Given the description of an element on the screen output the (x, y) to click on. 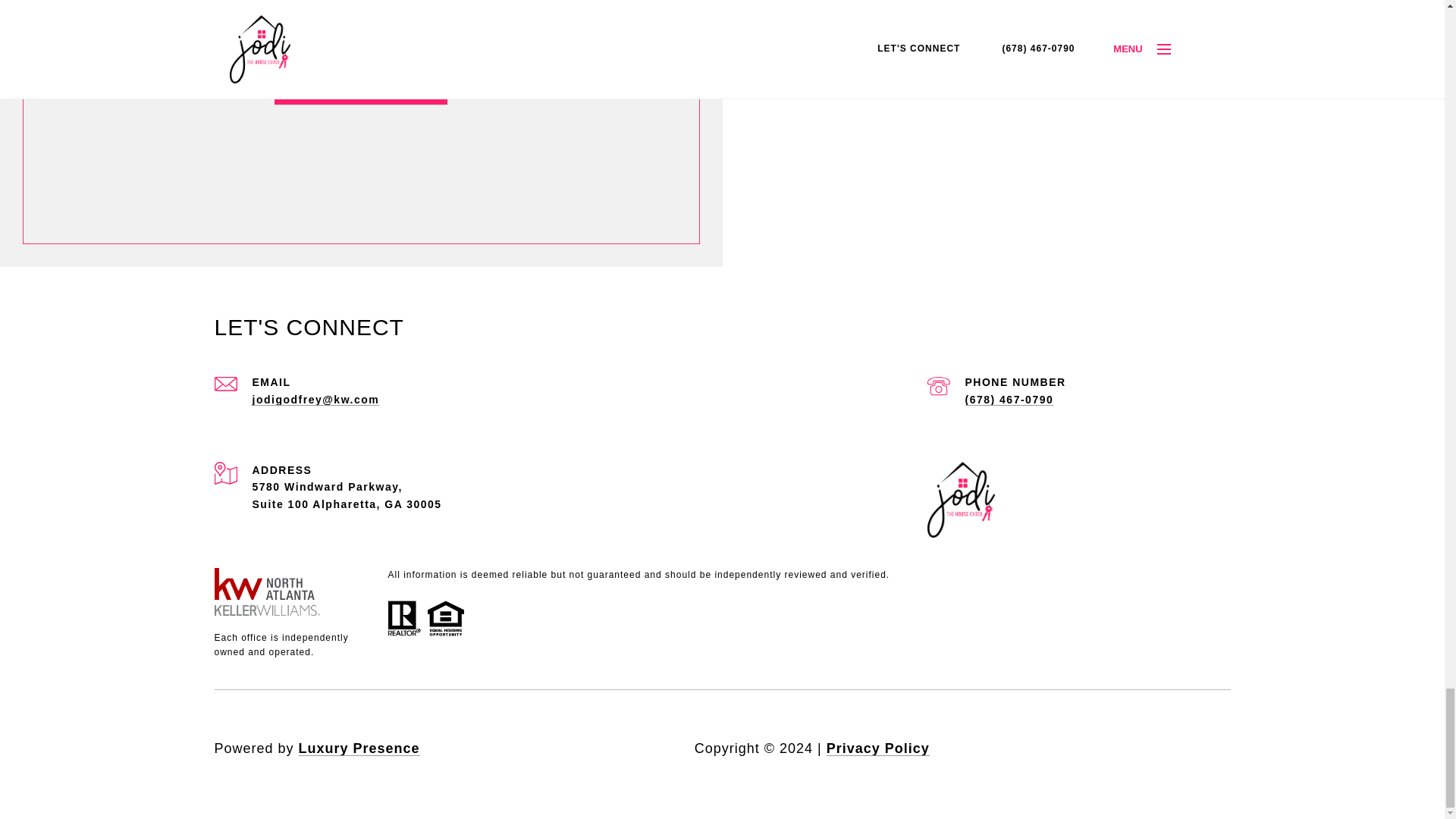
LET'S CONNECT (360, 82)
